Given the description of an element on the screen output the (x, y) to click on. 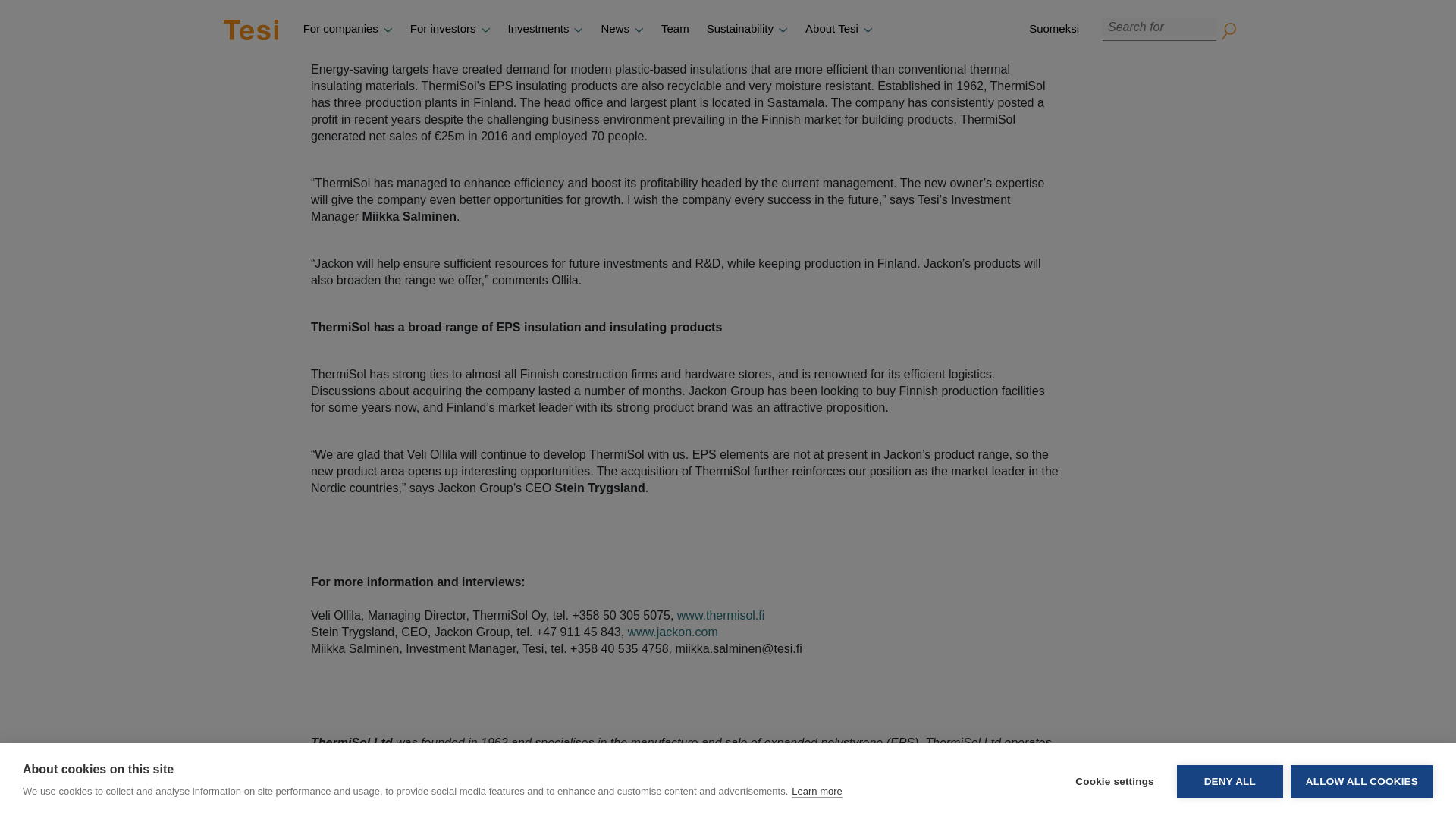
DENY ALL (1229, 9)
ALLOW ALL COOKIES (1361, 2)
Cookie settings (1114, 13)
